Given the description of an element on the screen output the (x, y) to click on. 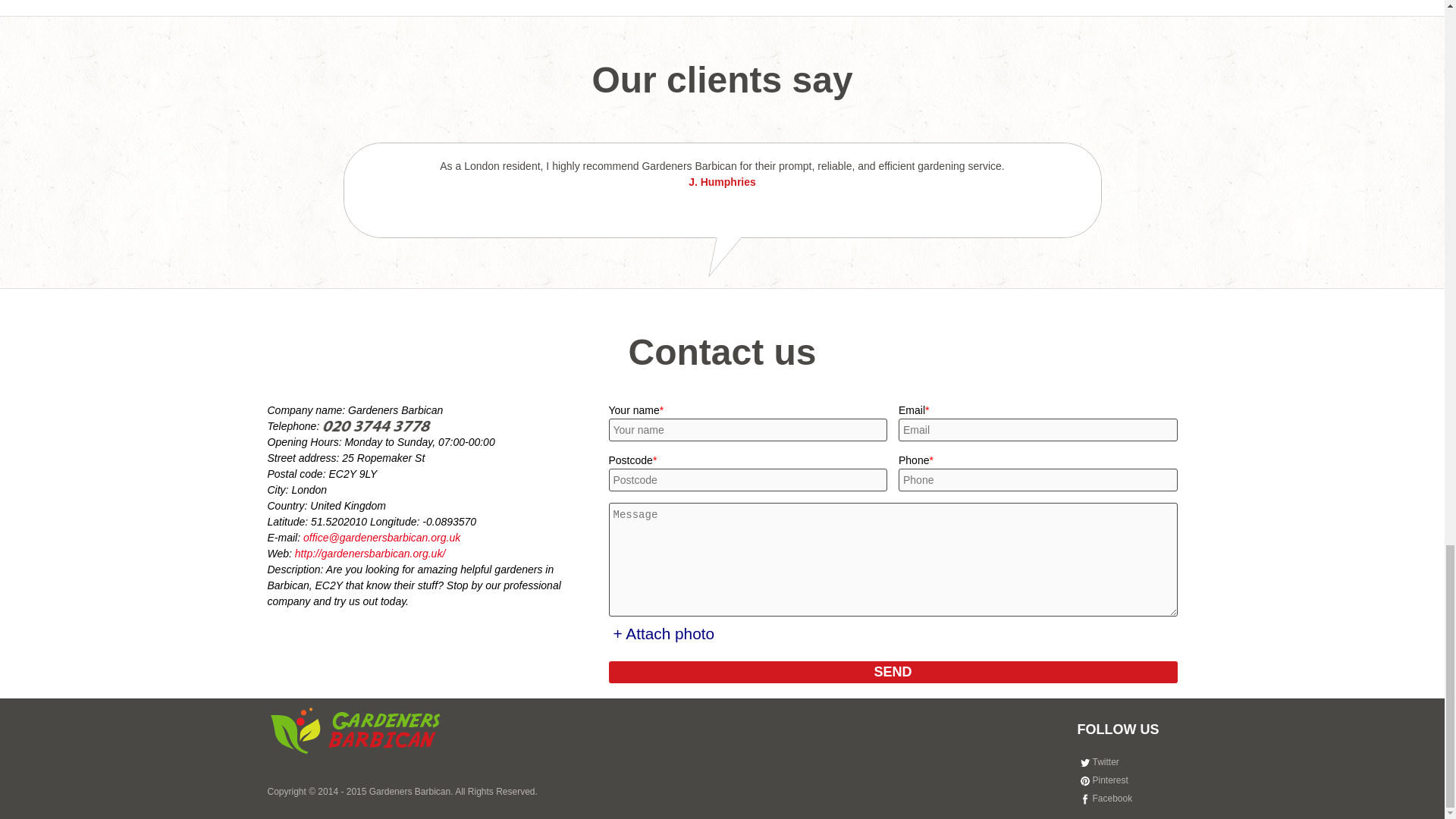
Send E-mail (381, 537)
SEND (892, 671)
